Given the description of an element on the screen output the (x, y) to click on. 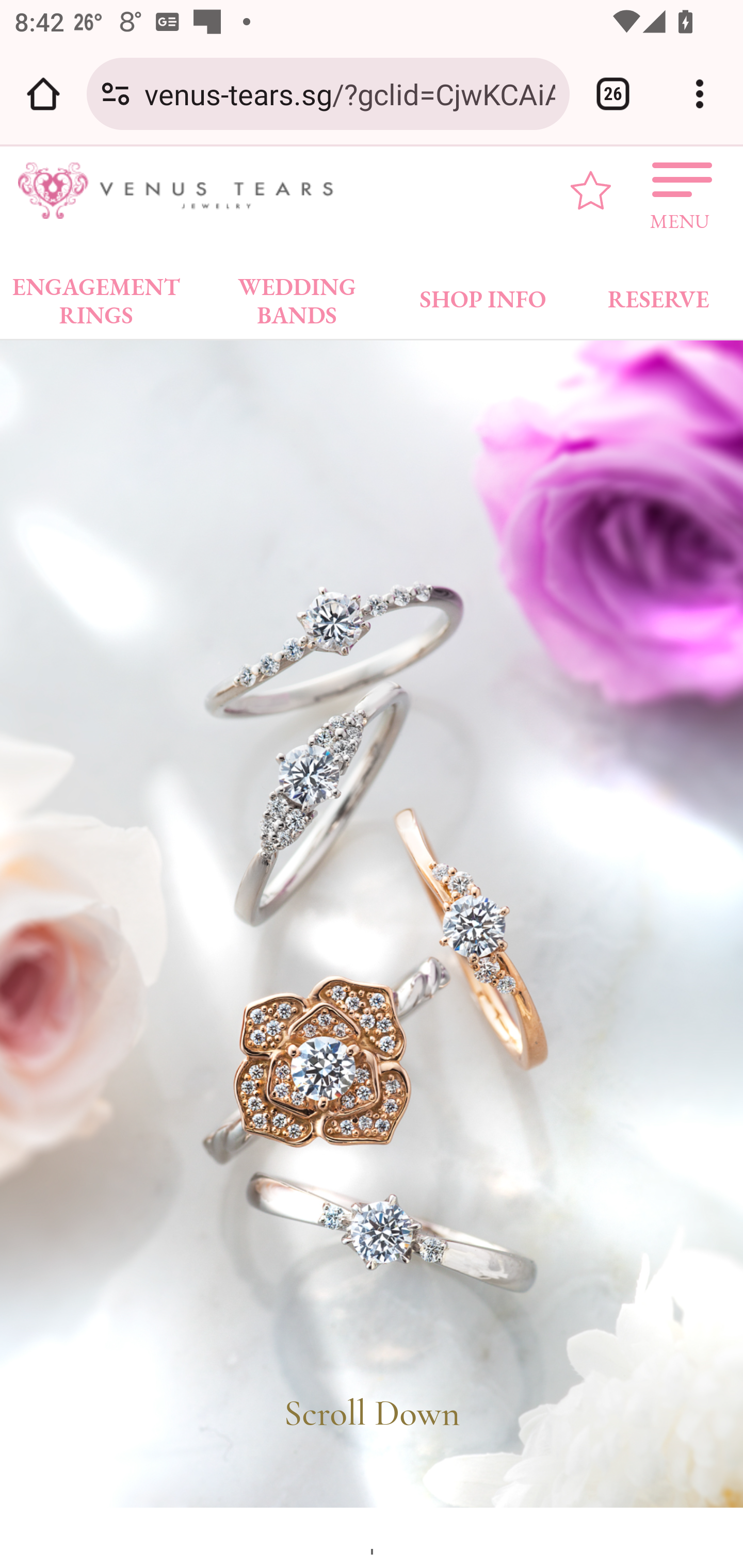
Open the home page (43, 93)
Connection is secure (115, 93)
Switch or close tabs (612, 93)
Customize and control Google Chrome (699, 93)
favourite (591, 190)
VENUS TEARS (181, 191)
ENGAGEMENT RINGS ENGAGEMENT RINGS (96, 295)
WEDDING BANDS WEDDING BANDS (296, 295)
SHOP INFO (482, 294)
RESERVE (657, 294)
